Given the description of an element on the screen output the (x, y) to click on. 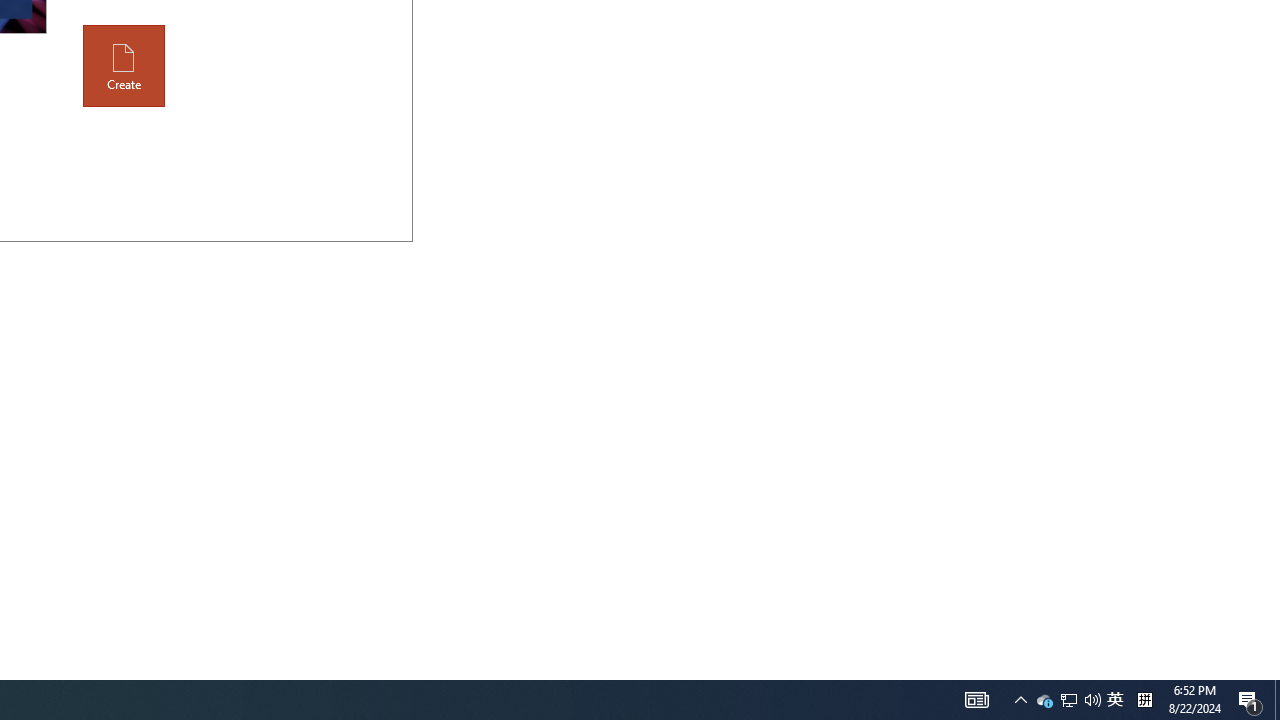
Create (124, 66)
